Given the description of an element on the screen output the (x, y) to click on. 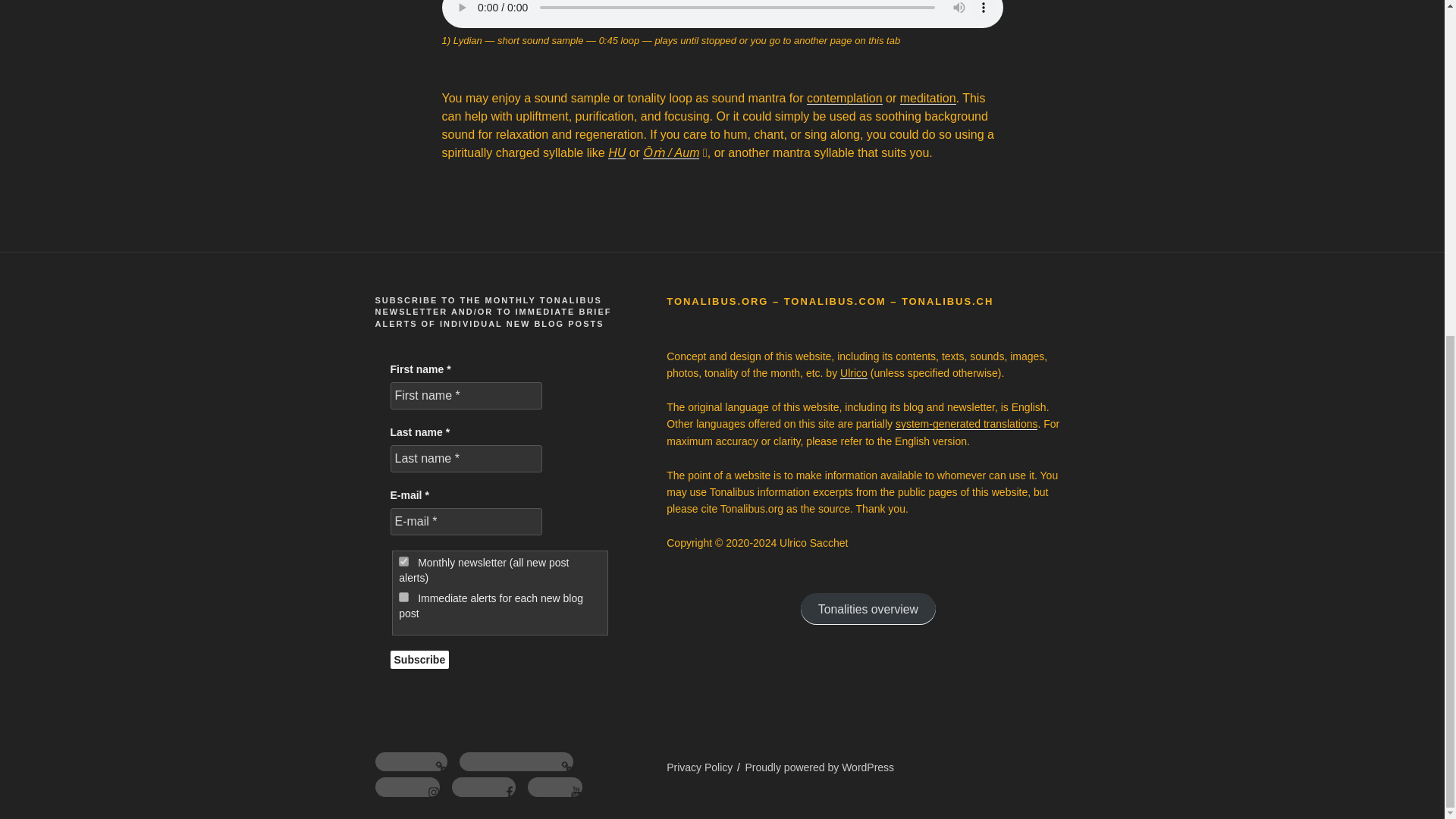
First name (465, 395)
E-mail (465, 521)
Subscribe (419, 659)
9 (403, 596)
Last name (465, 458)
3 (403, 561)
